Given the description of an element on the screen output the (x, y) to click on. 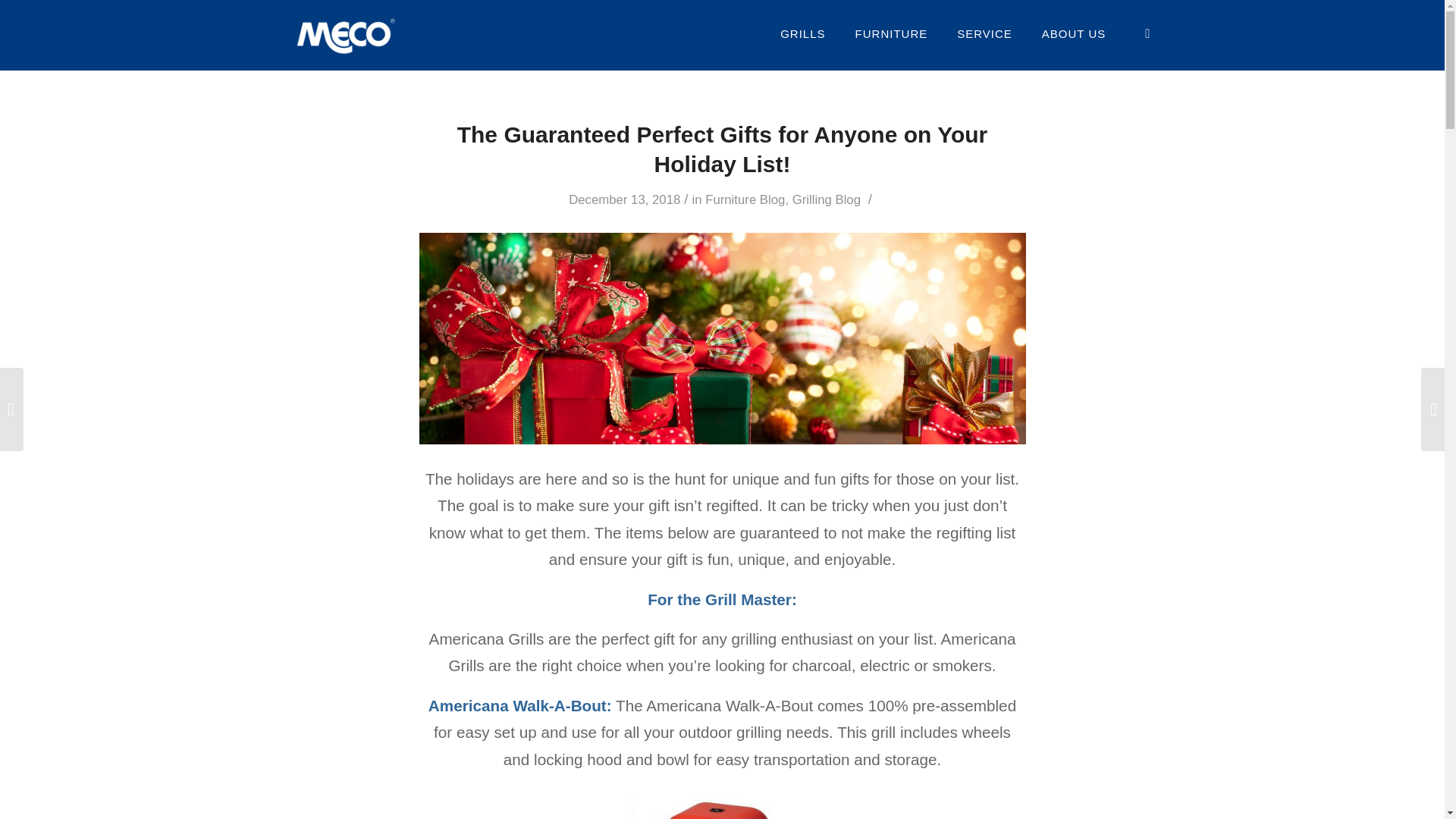
Furniture Blog (744, 199)
GRILLS (802, 33)
ABOUT US (1073, 33)
FURNITURE (891, 33)
SERVICE (984, 33)
Grilling Blog (826, 199)
